Given the description of an element on the screen output the (x, y) to click on. 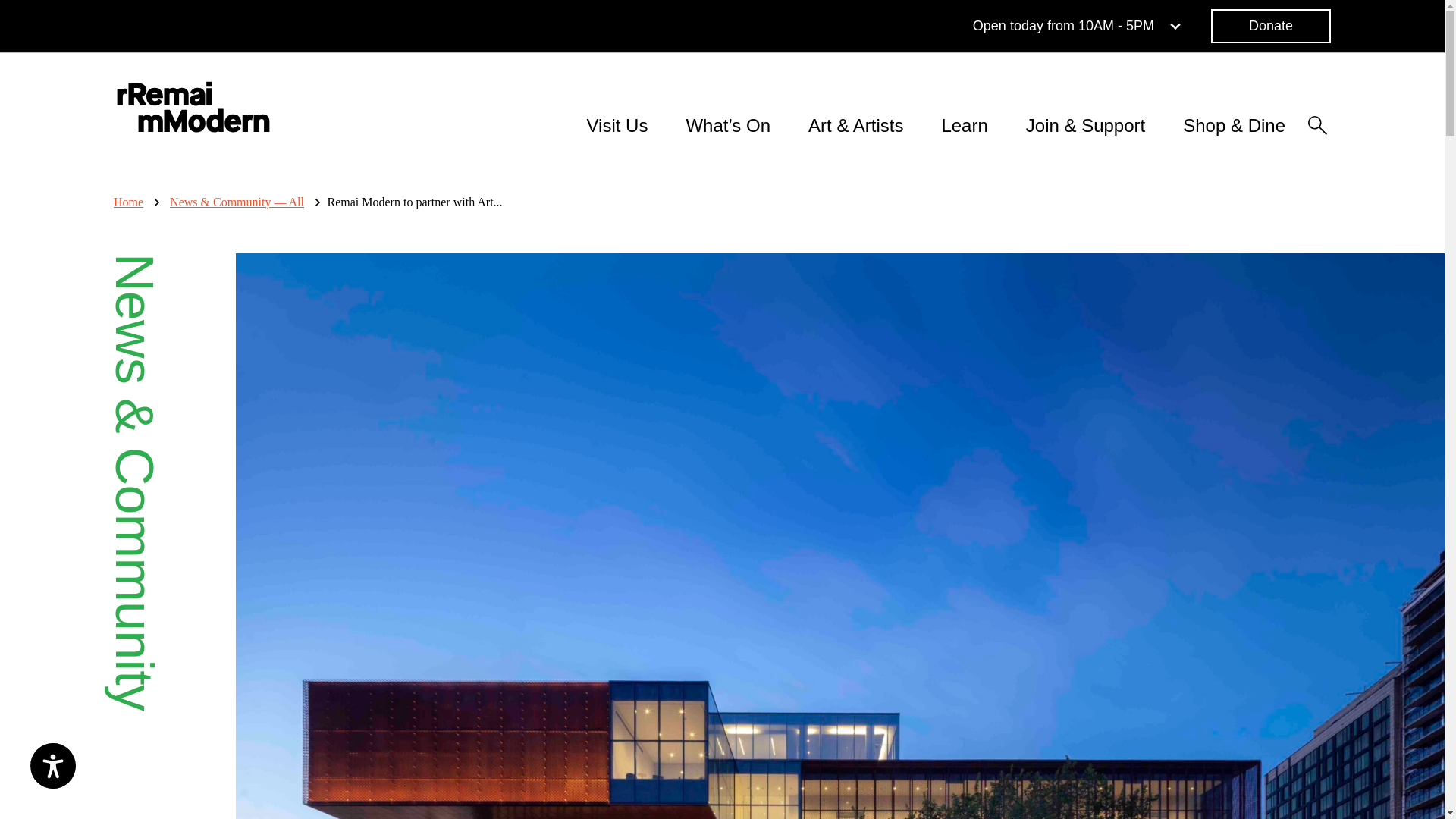
Visit Us (617, 125)
Learn (963, 125)
Donate (1270, 26)
Search for: (780, 12)
Accessibility View (1078, 26)
